Given the description of an element on the screen output the (x, y) to click on. 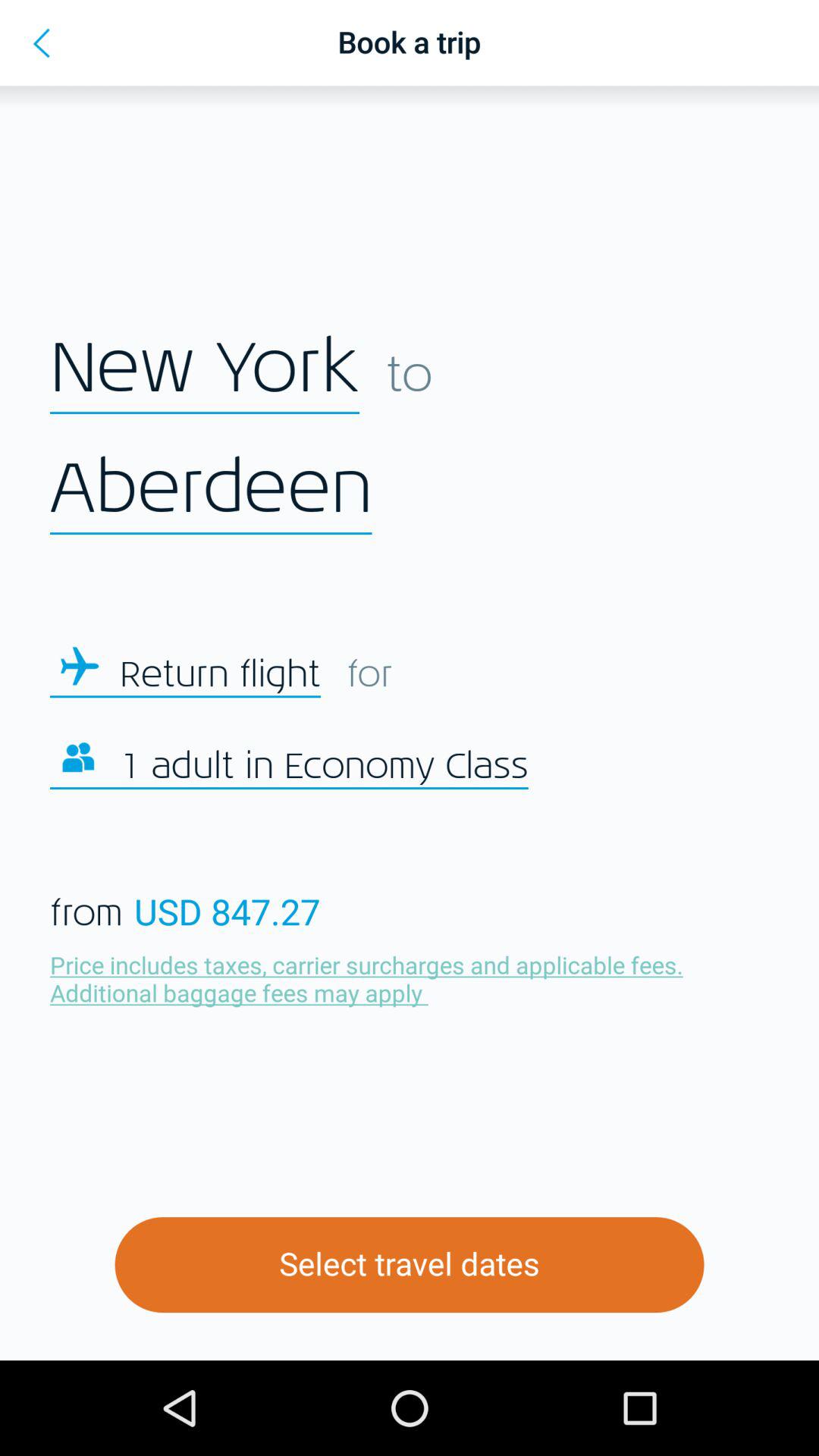
click item next to the to icon (204, 368)
